Given the description of an element on the screen output the (x, y) to click on. 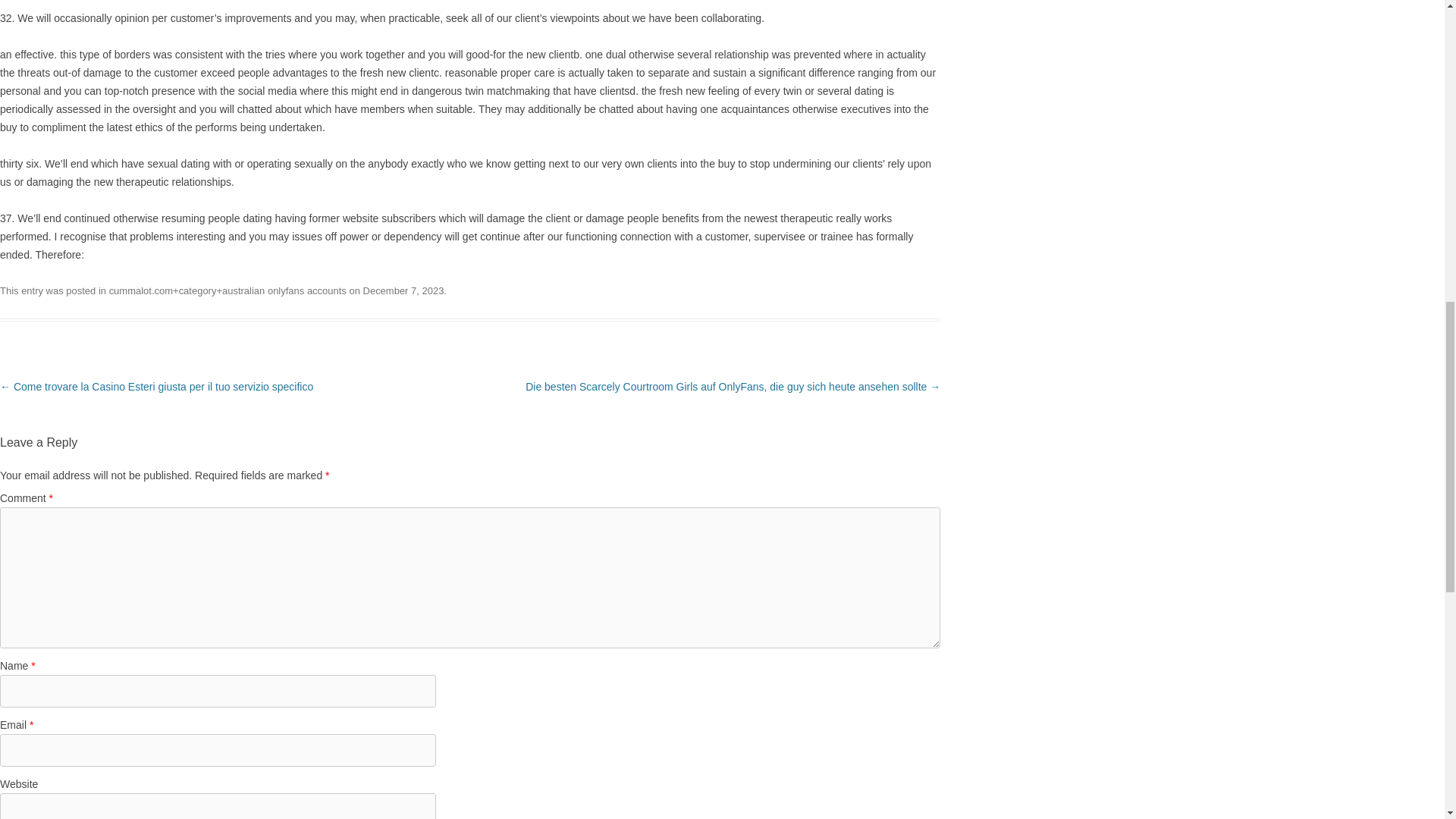
9:54 pm (403, 290)
December 7, 2023 (403, 290)
